Given the description of an element on the screen output the (x, y) to click on. 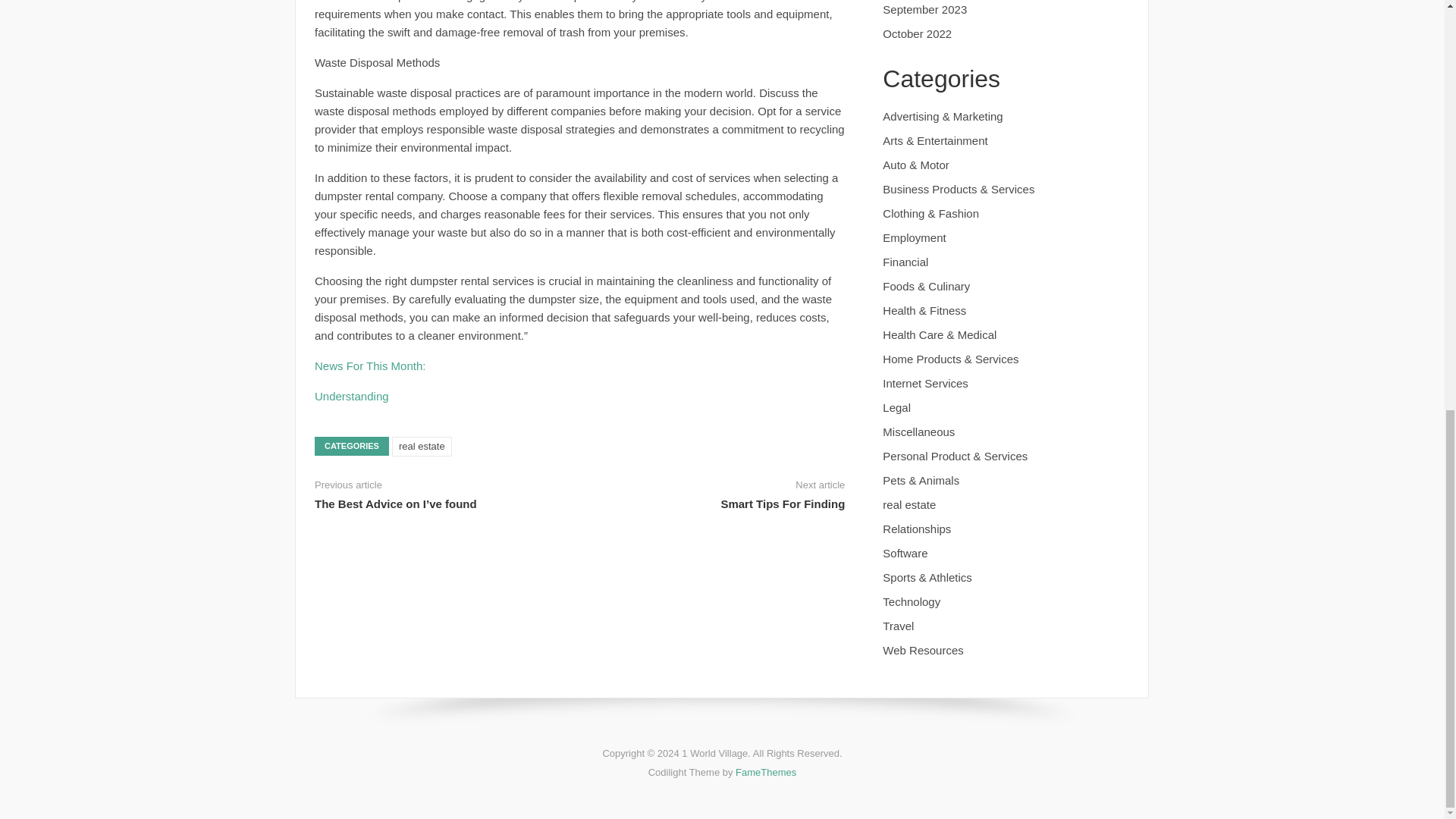
Understanding (351, 395)
September 2023 (924, 9)
real estate (421, 446)
News For This Month: (369, 365)
Smart Tips For Finding (782, 503)
October 2022 (917, 33)
Financial (905, 261)
Employment (913, 237)
